Given the description of an element on the screen output the (x, y) to click on. 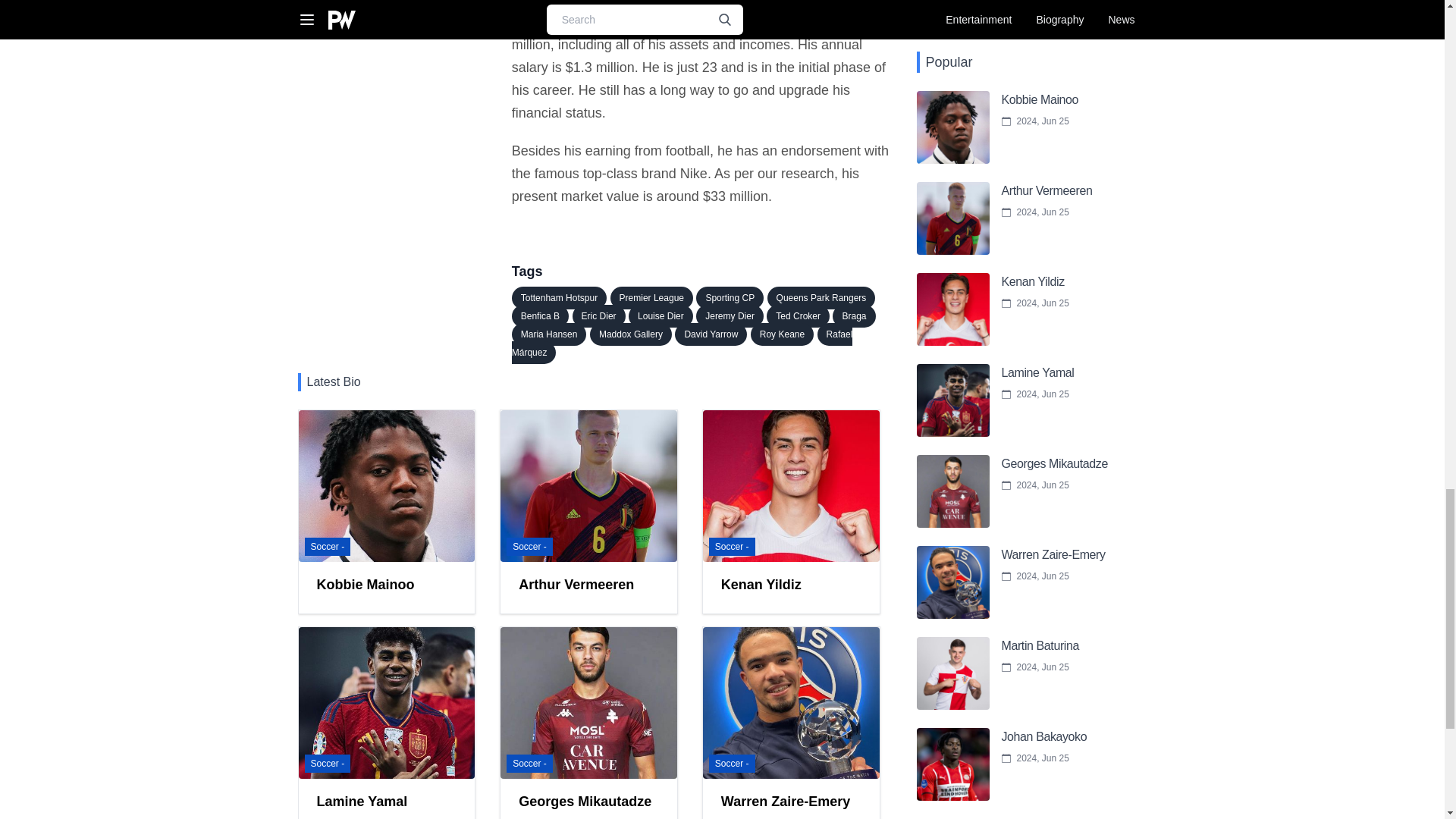
Premier League (651, 297)
Maddox Gallery (630, 333)
Tottenham Hotspur (559, 297)
Roy Keane (782, 333)
Maria Hansen (549, 333)
Queens Park Rangers (821, 297)
Benfica B (540, 315)
Lamine Yamal (386, 722)
Braga (386, 722)
